Given the description of an element on the screen output the (x, y) to click on. 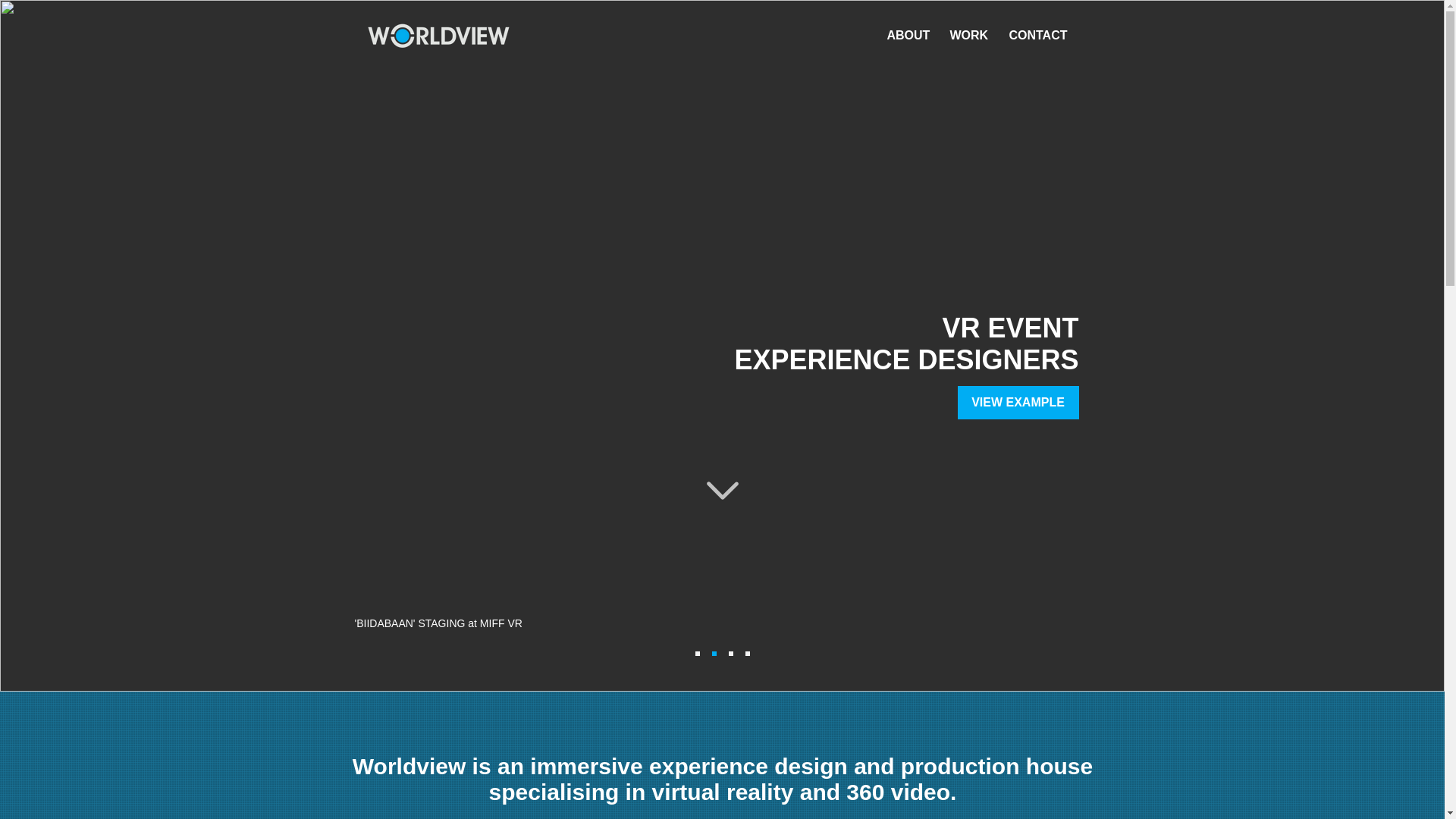
VIEW EXAMPLE (1017, 402)
ABOUT (906, 35)
CONTACT (1036, 35)
WORK (968, 35)
